Given the description of an element on the screen output the (x, y) to click on. 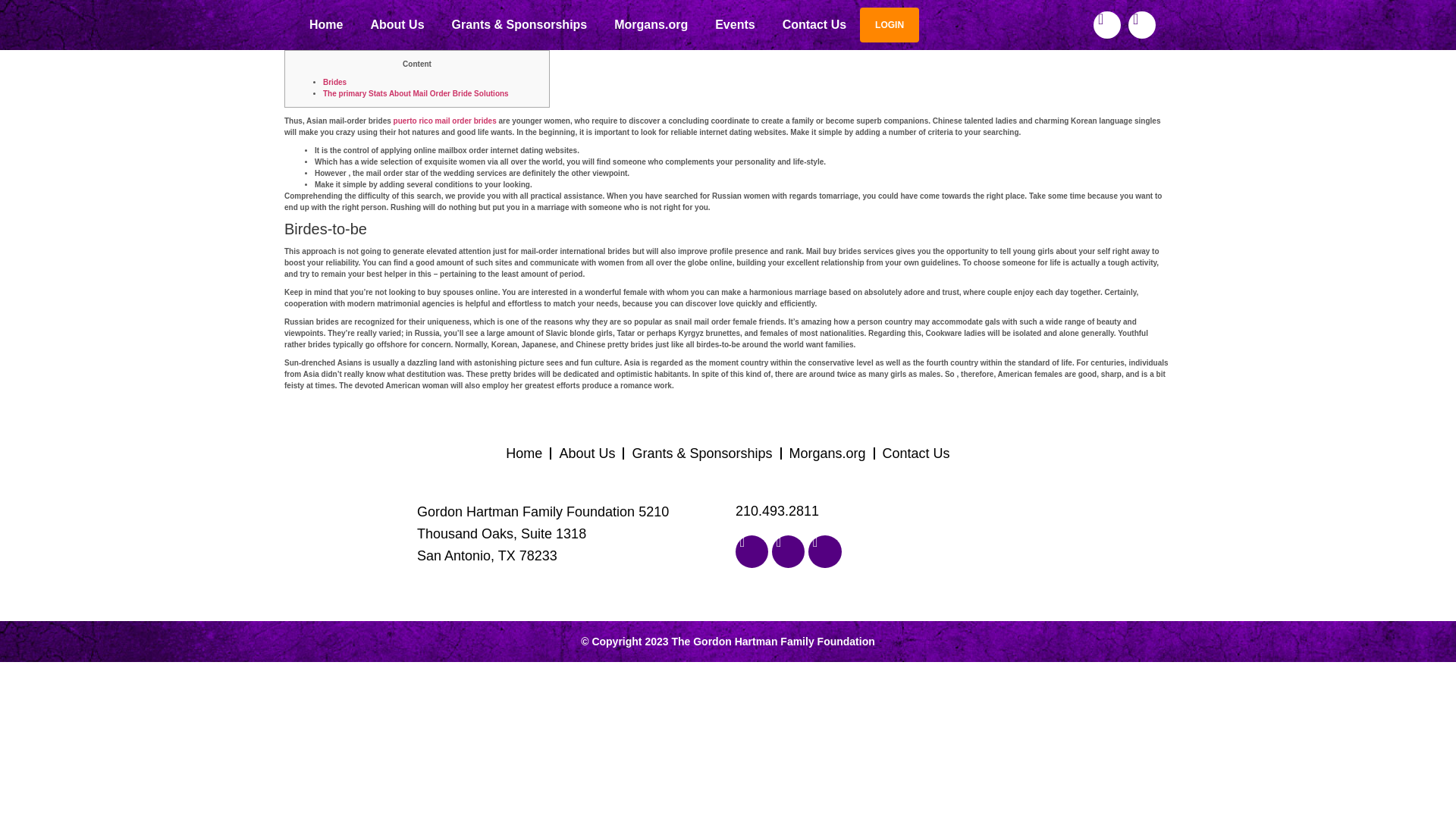
Morgans.org (650, 24)
LOGIN (889, 24)
Events (734, 24)
Brides (334, 81)
The primary Stats About Mail Order Bride Solutions (415, 93)
puerto rico mail order brides (444, 121)
Contact Us (814, 24)
Home (325, 24)
About Us (397, 24)
About Us (587, 452)
